Given the description of an element on the screen output the (x, y) to click on. 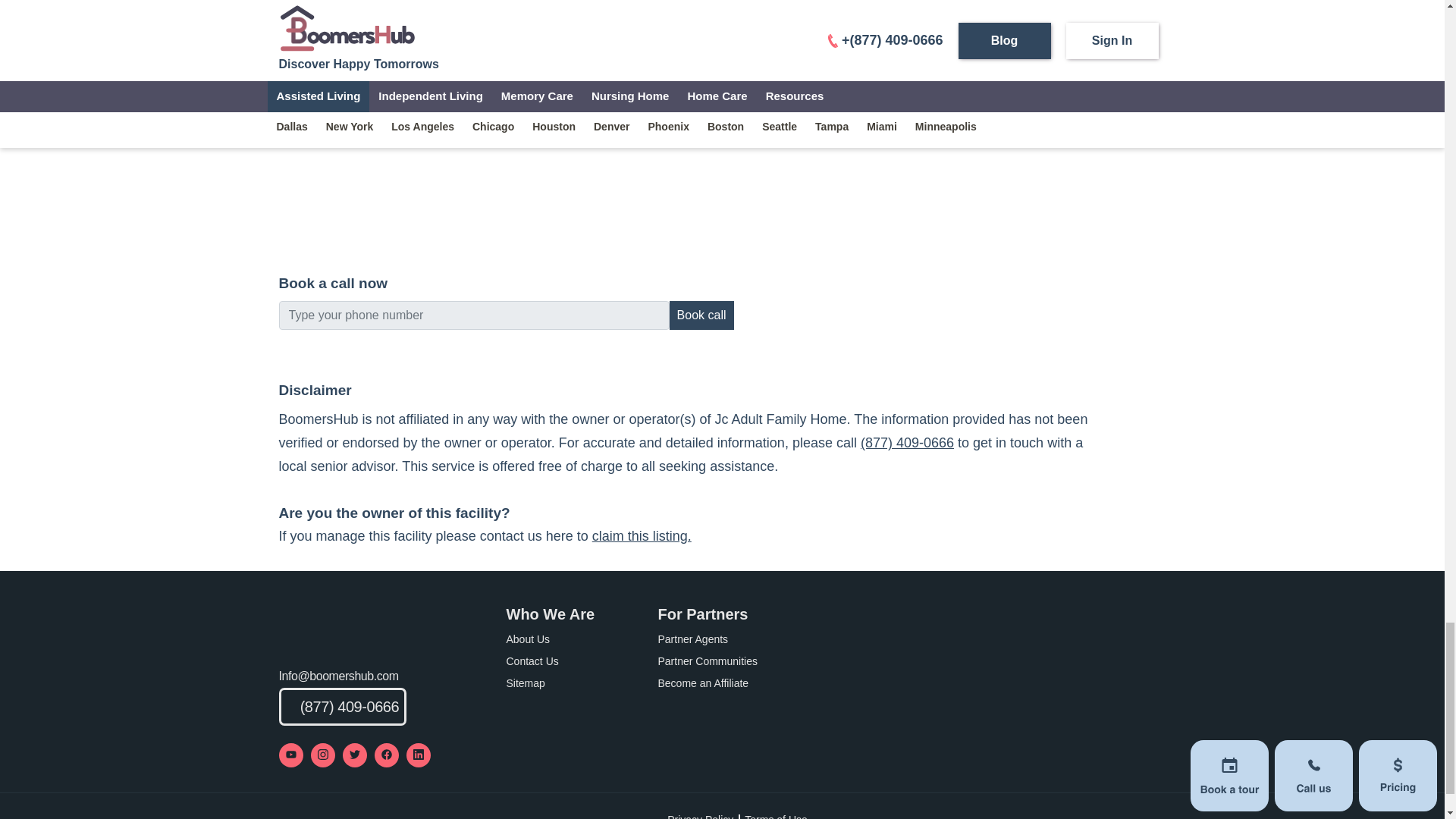
Book call (701, 315)
